Given the description of an element on the screen output the (x, y) to click on. 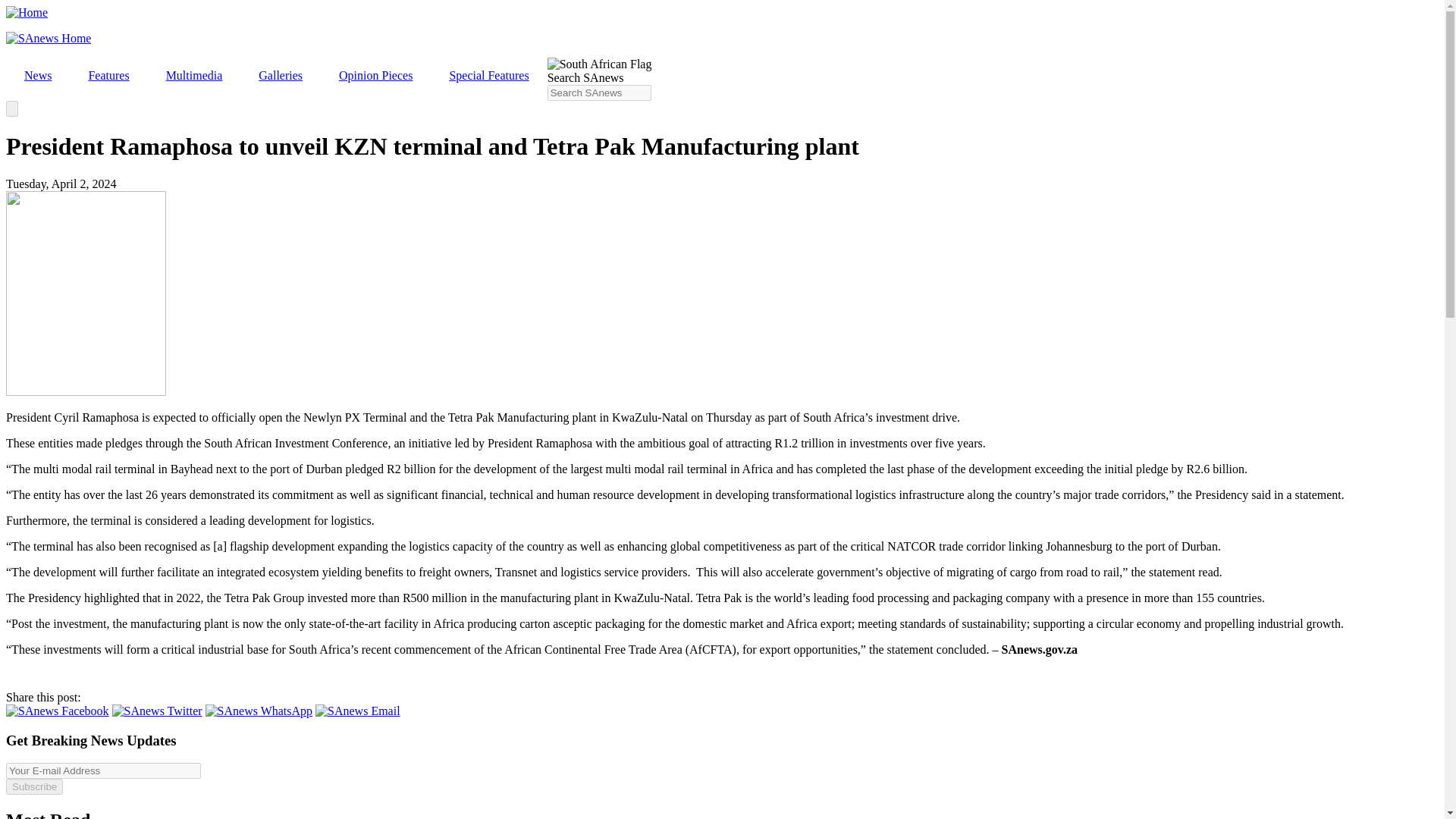
Share on Facebook (57, 710)
News (37, 75)
Share by Email (357, 710)
Share on WhatsApp (259, 710)
Share on Twitter (157, 710)
Galleries (280, 75)
Features (108, 75)
Opinion Pieces (375, 75)
Enter the terms you wish to search for. (598, 92)
